Given the description of an element on the screen output the (x, y) to click on. 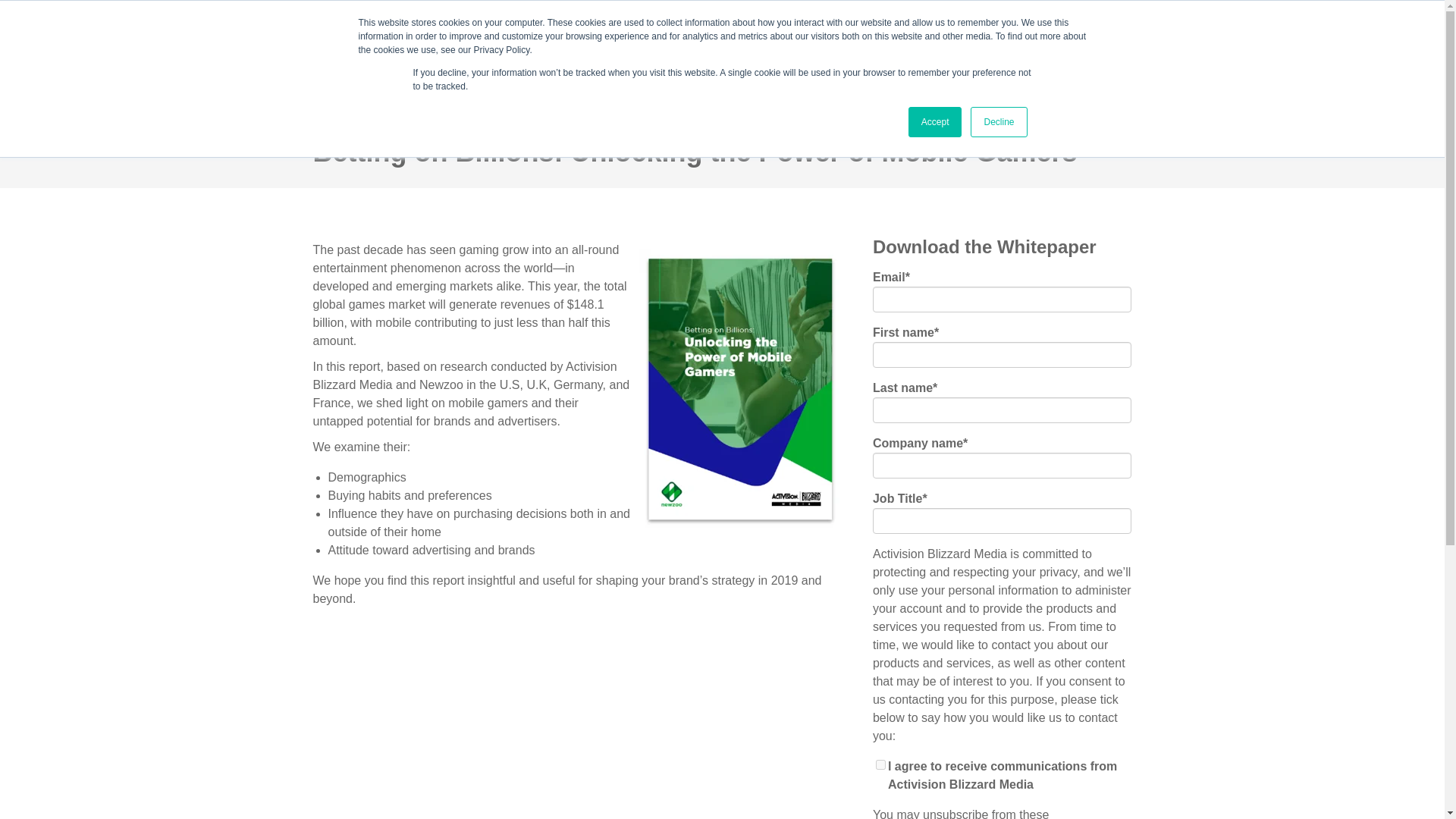
Activision Blizzard Media logo (721, 57)
Decline (998, 122)
Accept (935, 122)
true (880, 764)
